Given the description of an element on the screen output the (x, y) to click on. 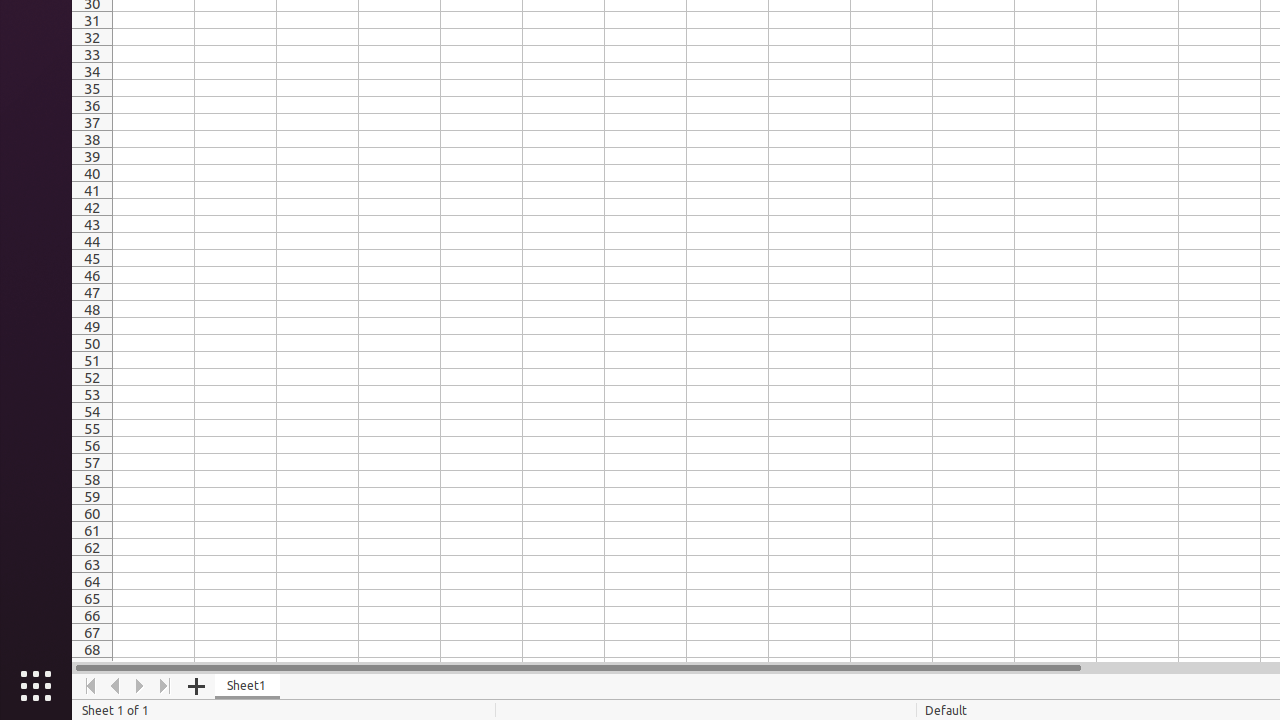
Show Applications Element type: toggle-button (36, 686)
